Given the description of an element on the screen output the (x, y) to click on. 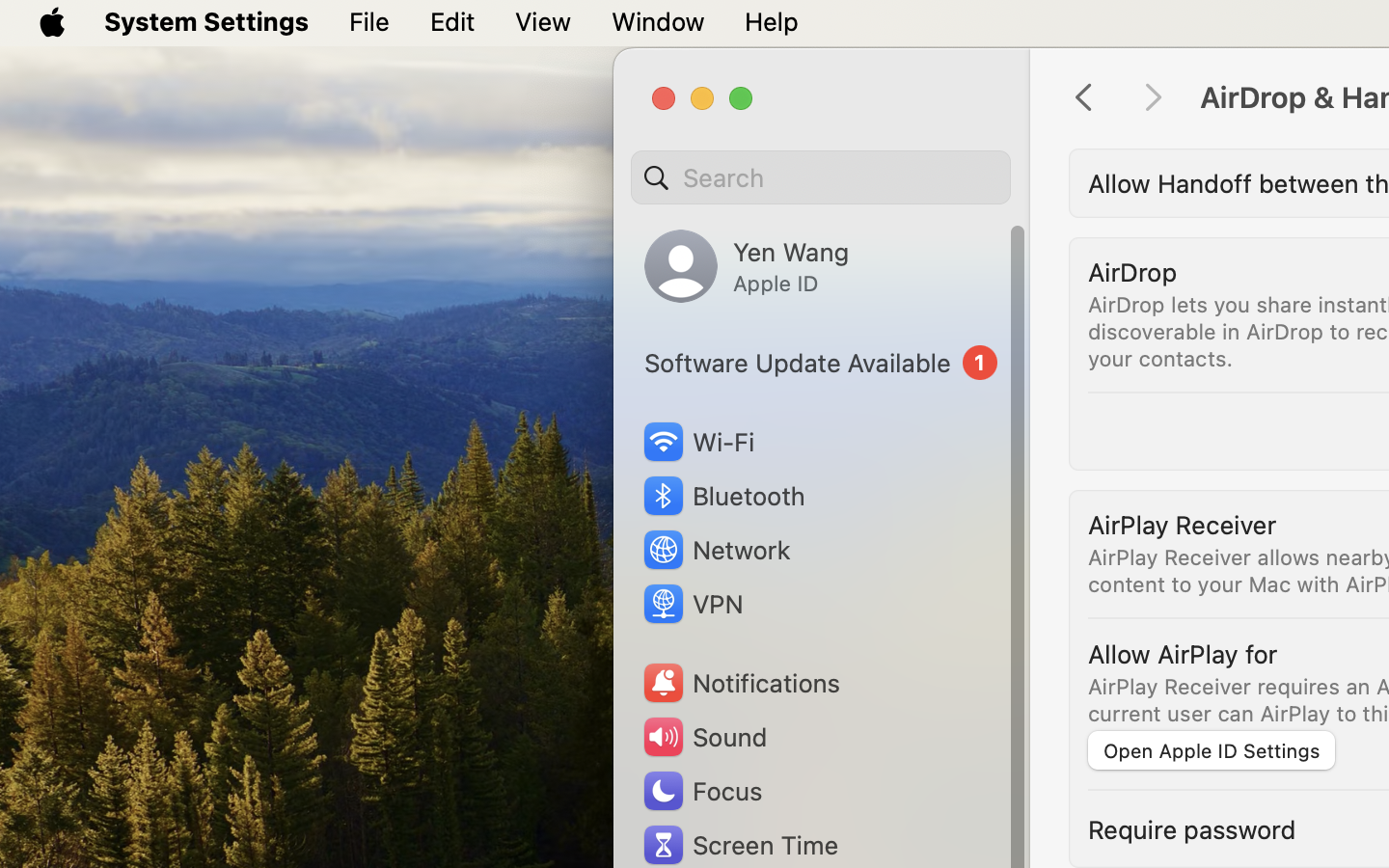
AirDrop Element type: AXStaticText (1132, 271)
VPN Element type: AXStaticText (691, 603)
Bluetooth Element type: AXStaticText (723, 495)
Screen Time Element type: AXStaticText (739, 844)
AirPlay Receiver Element type: AXStaticText (1182, 524)
